Given the description of an element on the screen output the (x, y) to click on. 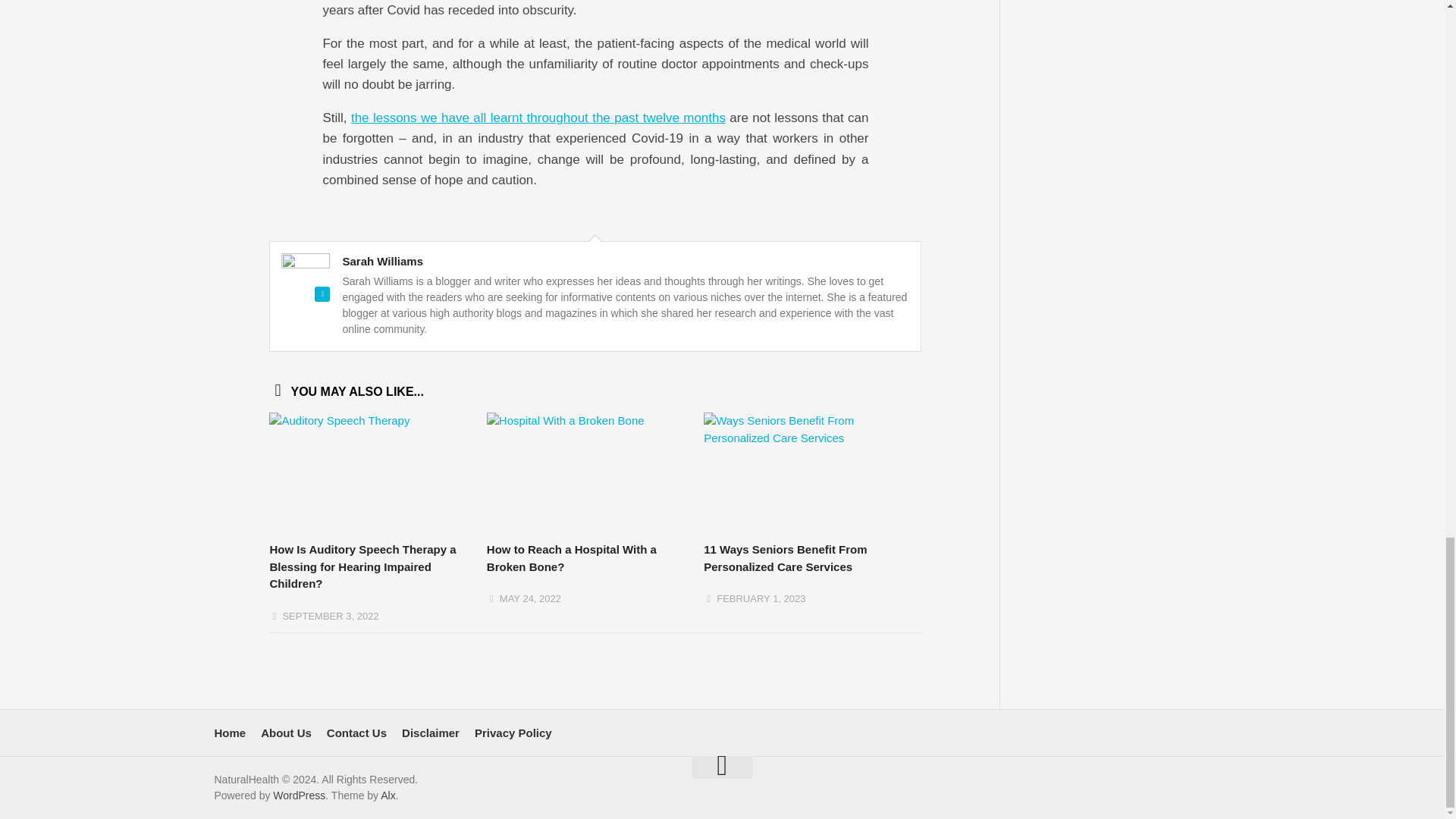
11 Ways Seniors Benefit From Personalized Care Services (784, 557)
How to Reach a Hospital With a Broken Bone? (571, 557)
